Given the description of an element on the screen output the (x, y) to click on. 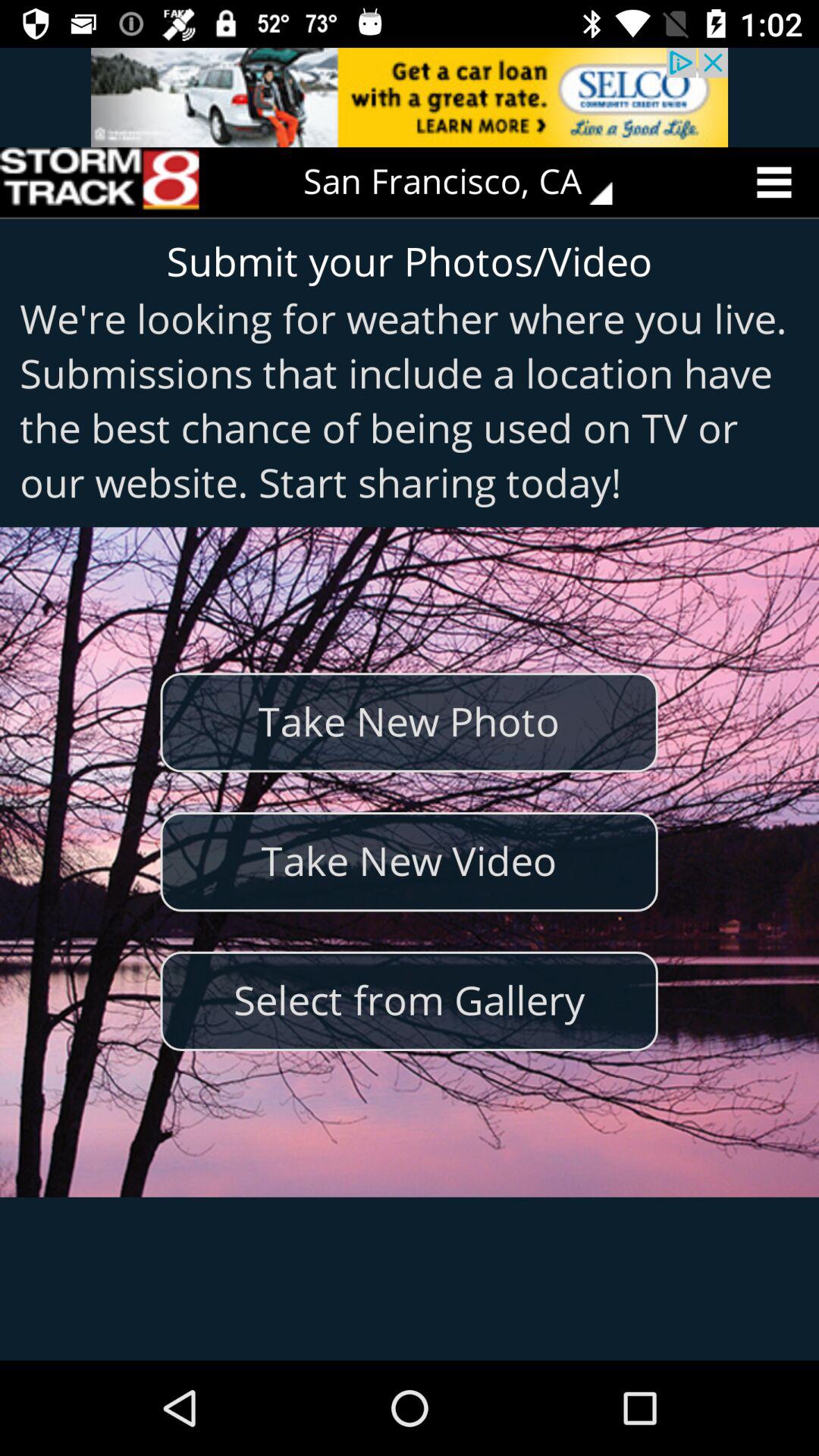
select item below the take new video (409, 1001)
